Given the description of an element on the screen output the (x, y) to click on. 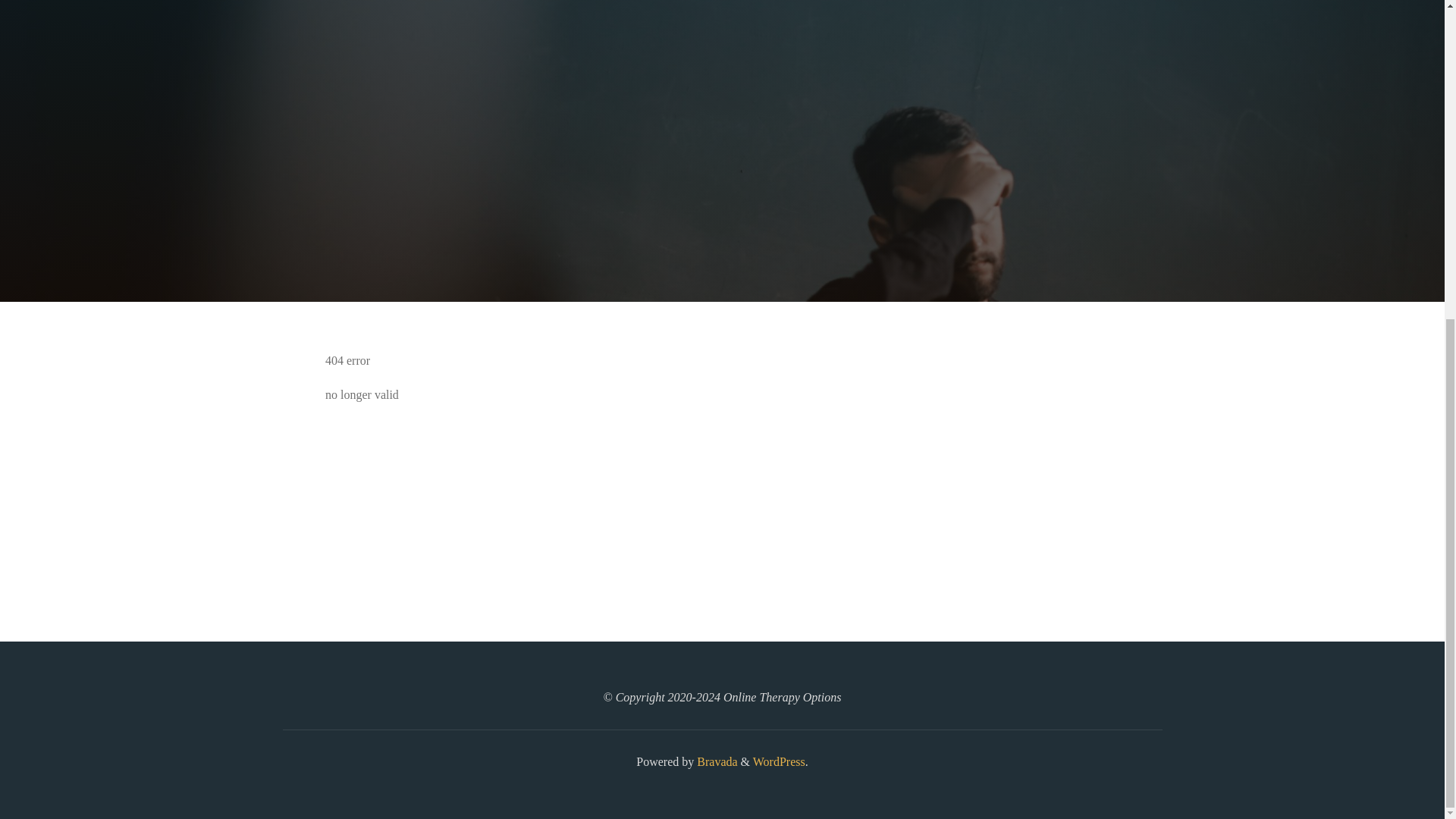
Read more (721, 207)
Bravada WordPress Theme by Cryout Creations (715, 761)
Semantic Personal Publishing Platform (778, 761)
WordPress (778, 761)
Bravada (715, 761)
